Given the description of an element on the screen output the (x, y) to click on. 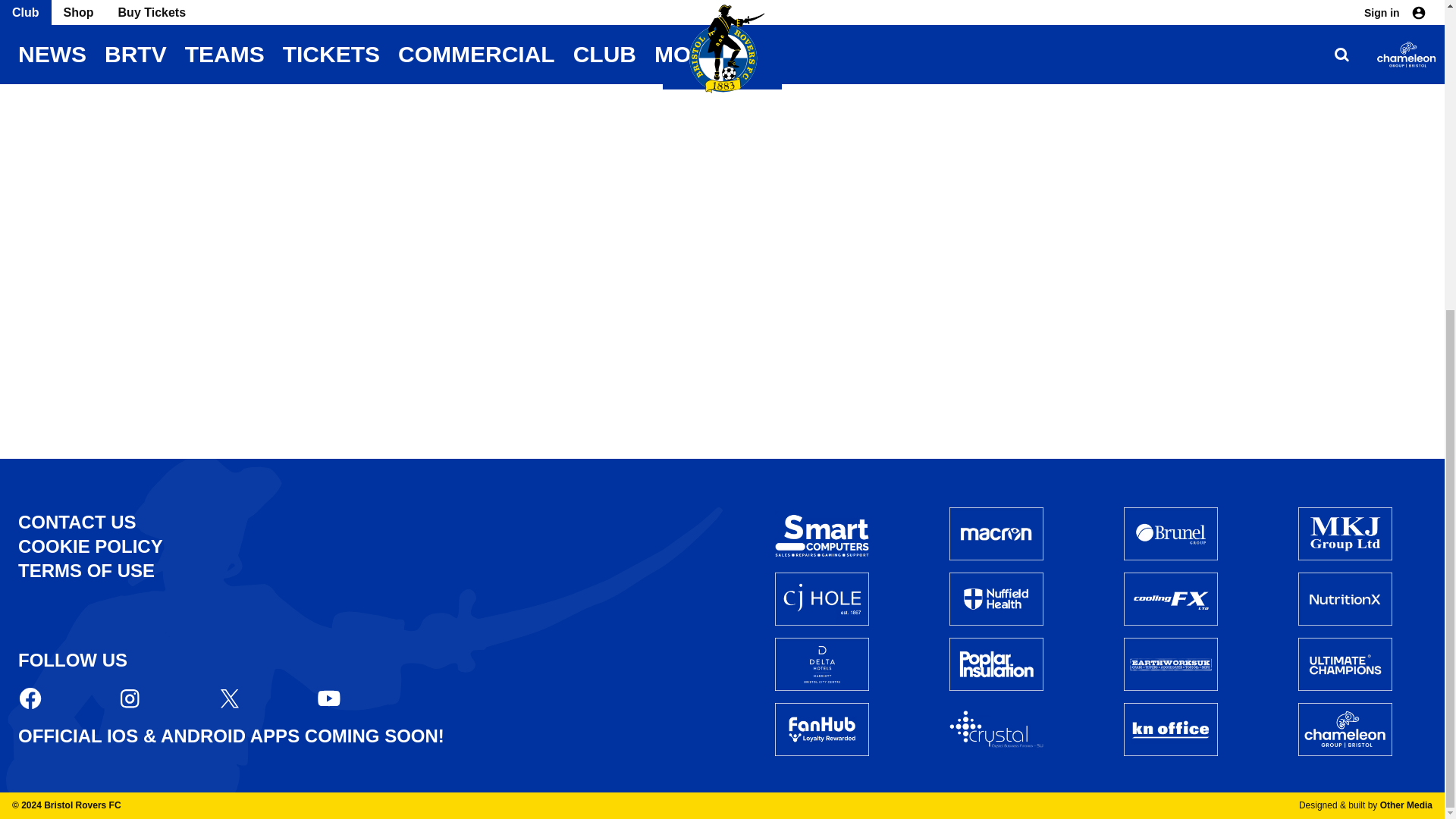
Macron (996, 533)
MKG Group (1344, 533)
Cooling FX (1170, 598)
Nuffield Health (996, 598)
Nutrition X (1344, 598)
Chameleon Group (1344, 728)
Fan Hub (821, 728)
CJ Hole (821, 598)
Crystal Business Finance (996, 729)
Brunel (1170, 533)
